Given the description of an element on the screen output the (x, y) to click on. 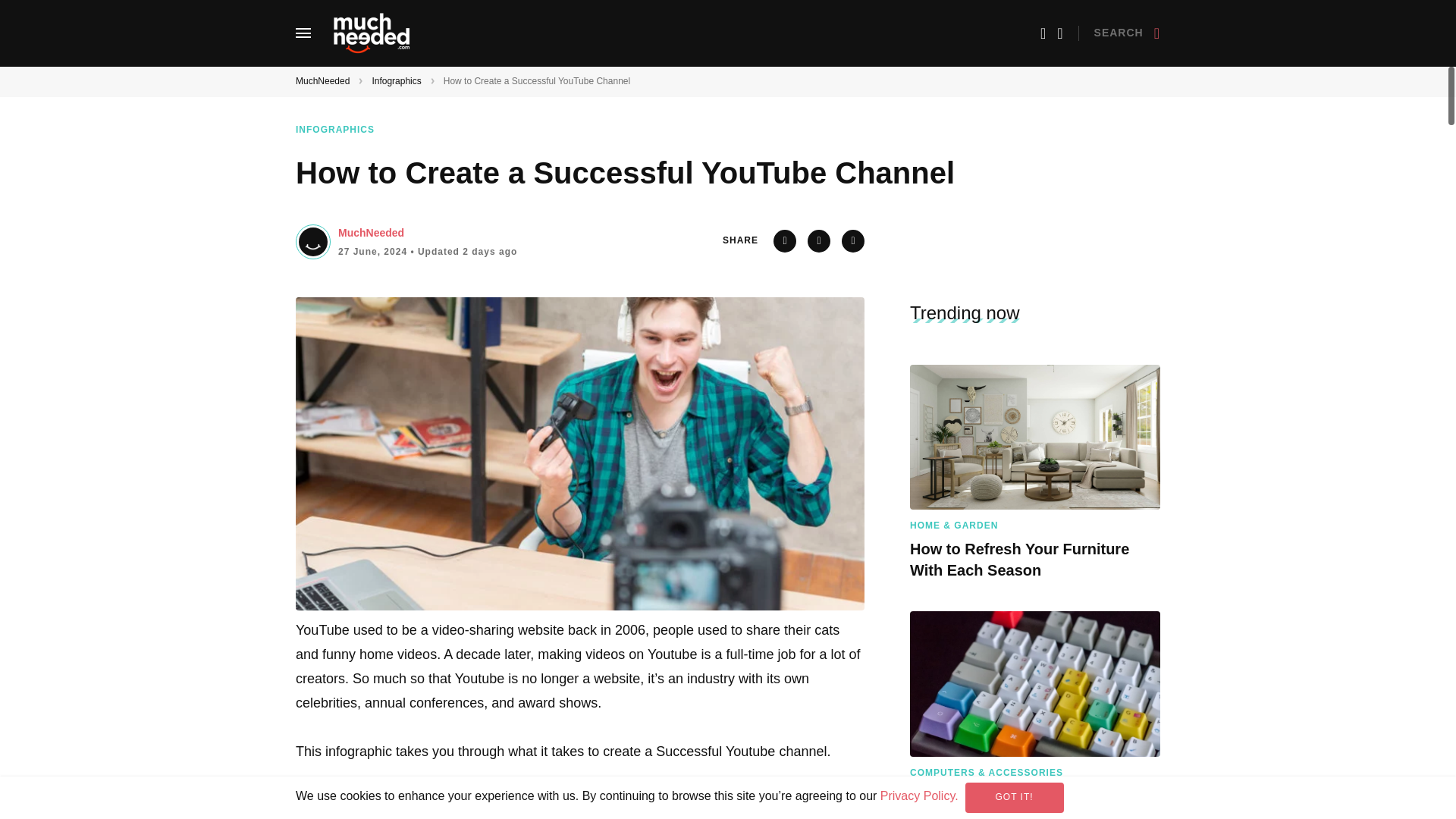
ABS vs PBT Keycaps: Things you Should Know (1035, 682)
Infographics (395, 81)
SEARCH (1127, 33)
How to Refresh Your Furniture With Each Season (1035, 436)
How to Refresh Your Furniture With Each Season (1035, 559)
MuchNeeded (322, 81)
Infographics (344, 129)
